Given the description of an element on the screen output the (x, y) to click on. 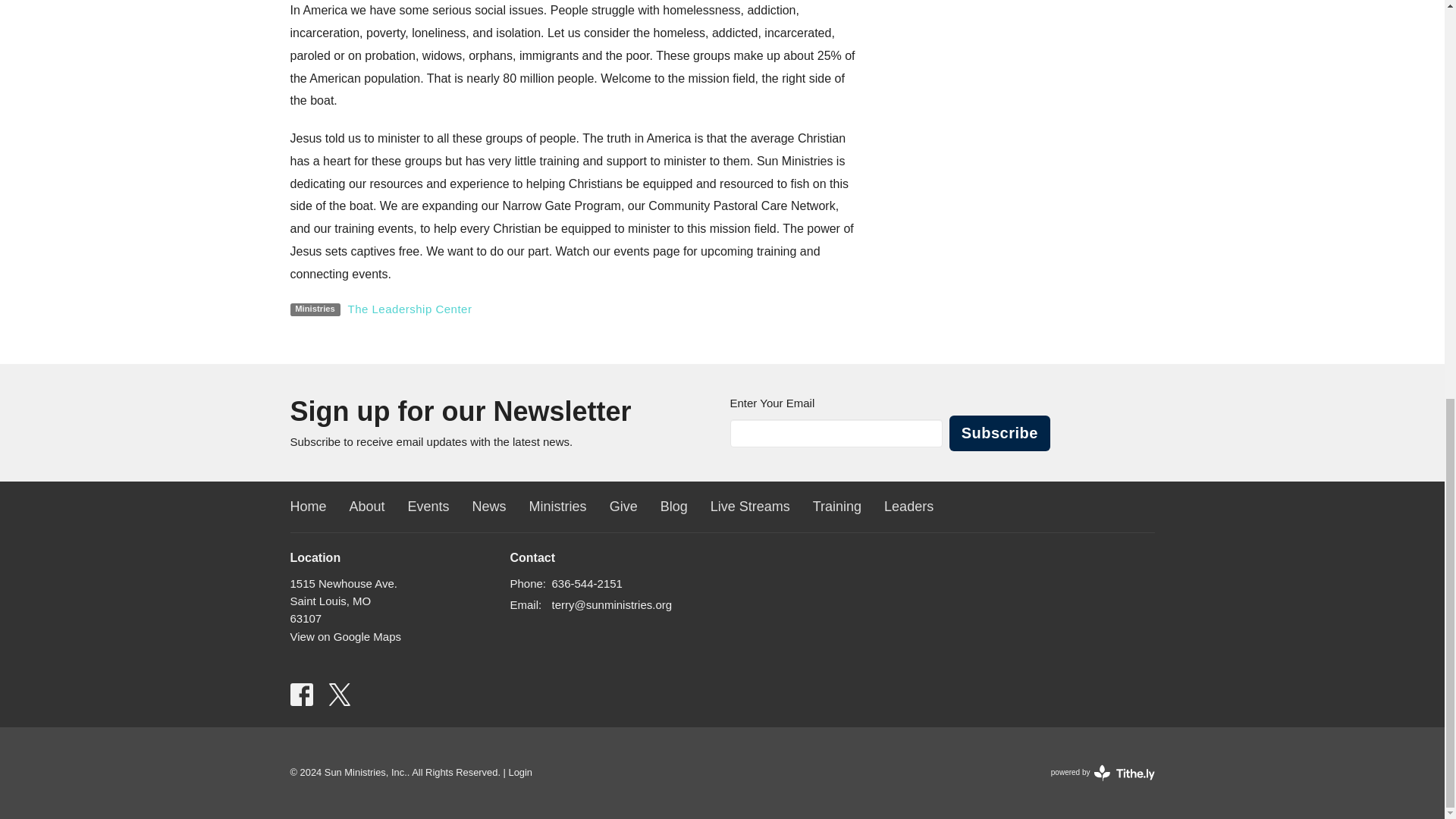
About (367, 506)
636-544-2151 (587, 583)
Blog (674, 506)
Home (307, 506)
The Leadership Center (409, 308)
Events (428, 506)
Training (836, 506)
Live Streams (750, 506)
translation missing: en.ui.email (523, 604)
View on Google Maps (344, 635)
Give (623, 506)
Leaders (908, 506)
News (488, 506)
Subscribe (999, 433)
Ministries (557, 506)
